Given the description of an element on the screen output the (x, y) to click on. 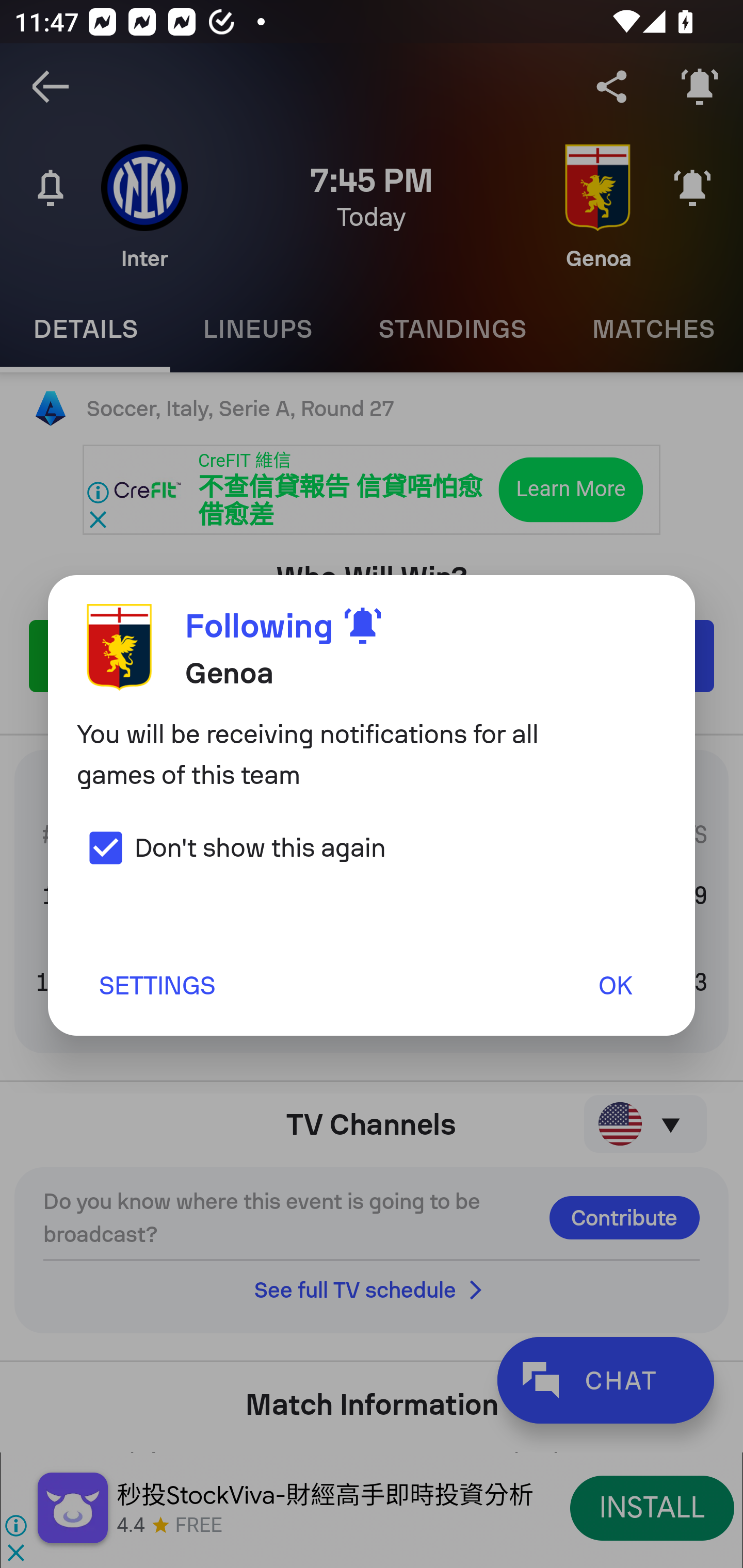
Don't show this again (231, 847)
SETTINGS (156, 985)
OK (615, 985)
